Given the description of an element on the screen output the (x, y) to click on. 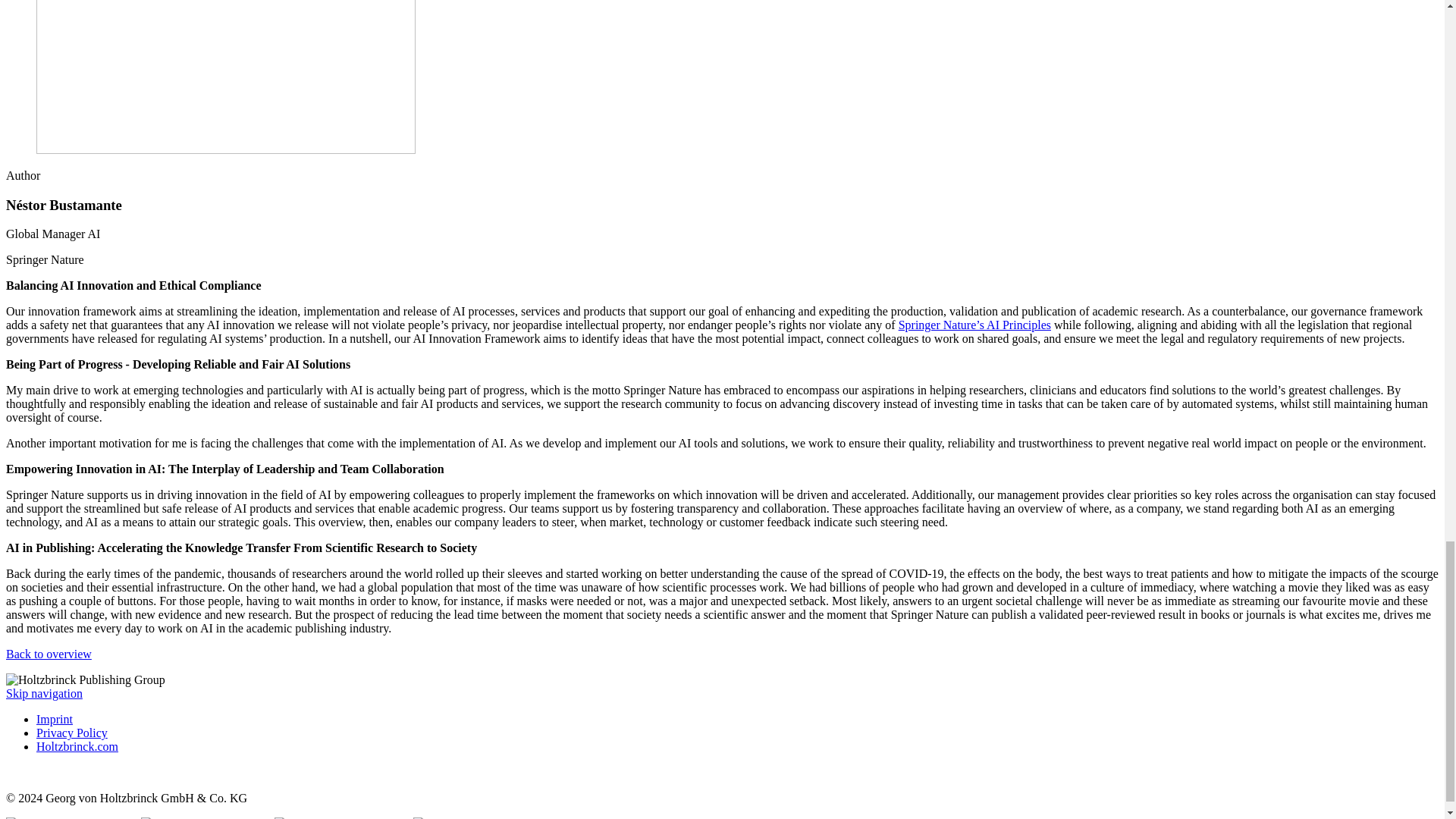
Skip navigation (43, 693)
Back to overview (48, 653)
Imprint (54, 718)
Imprint (54, 718)
Back to overview (48, 653)
Holtzbrinck.com (76, 746)
Privacy Policy (71, 732)
